Given the description of an element on the screen output the (x, y) to click on. 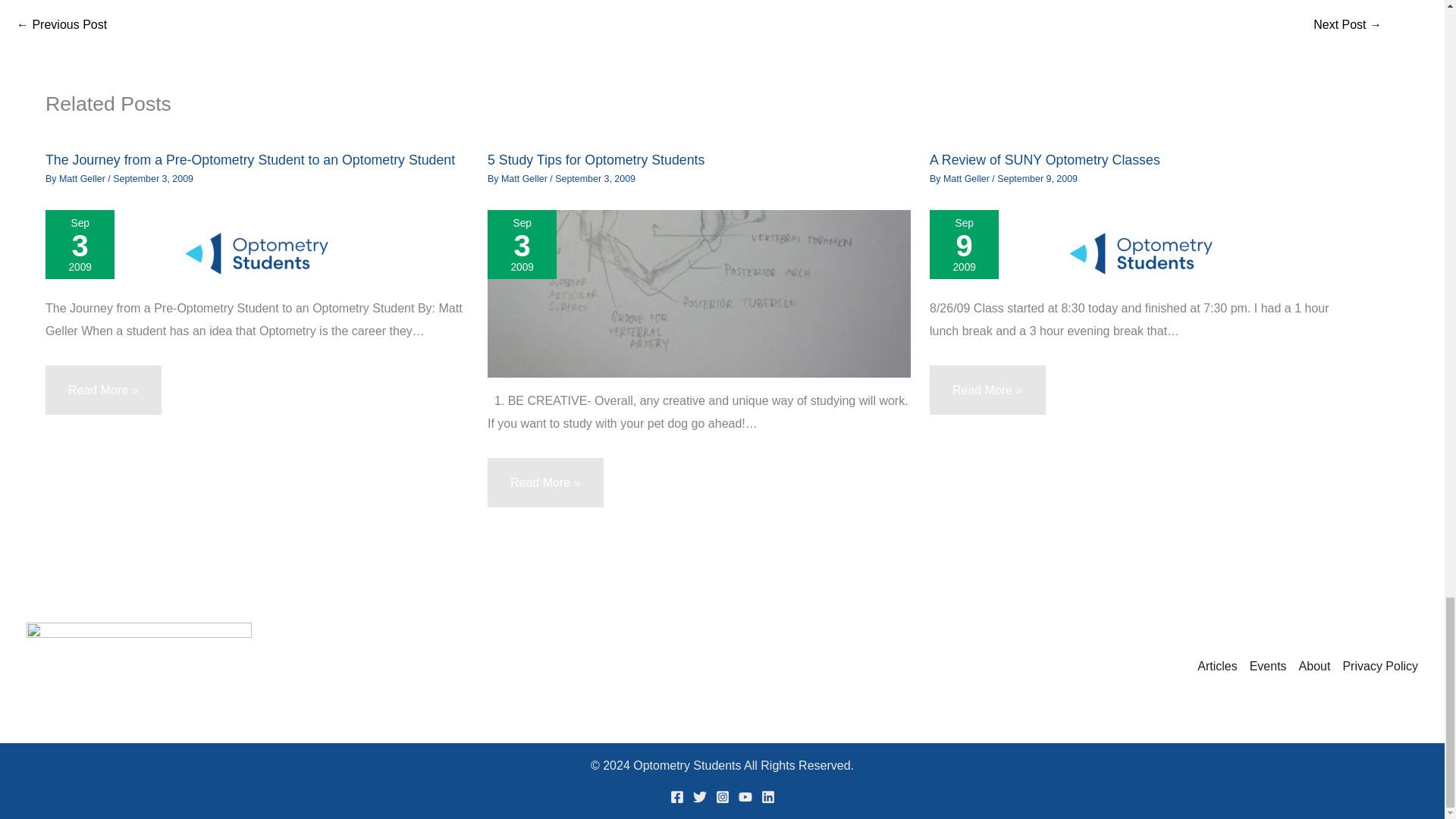
View all posts by Matt Geller (525, 178)
How to Get More Contact Lens Experience in Optometry School (1347, 24)
Sports Vision: Examining and Prescribing for Athletes (61, 24)
View all posts by Matt Geller (83, 178)
View all posts by Matt Geller (967, 178)
